Given the description of an element on the screen output the (x, y) to click on. 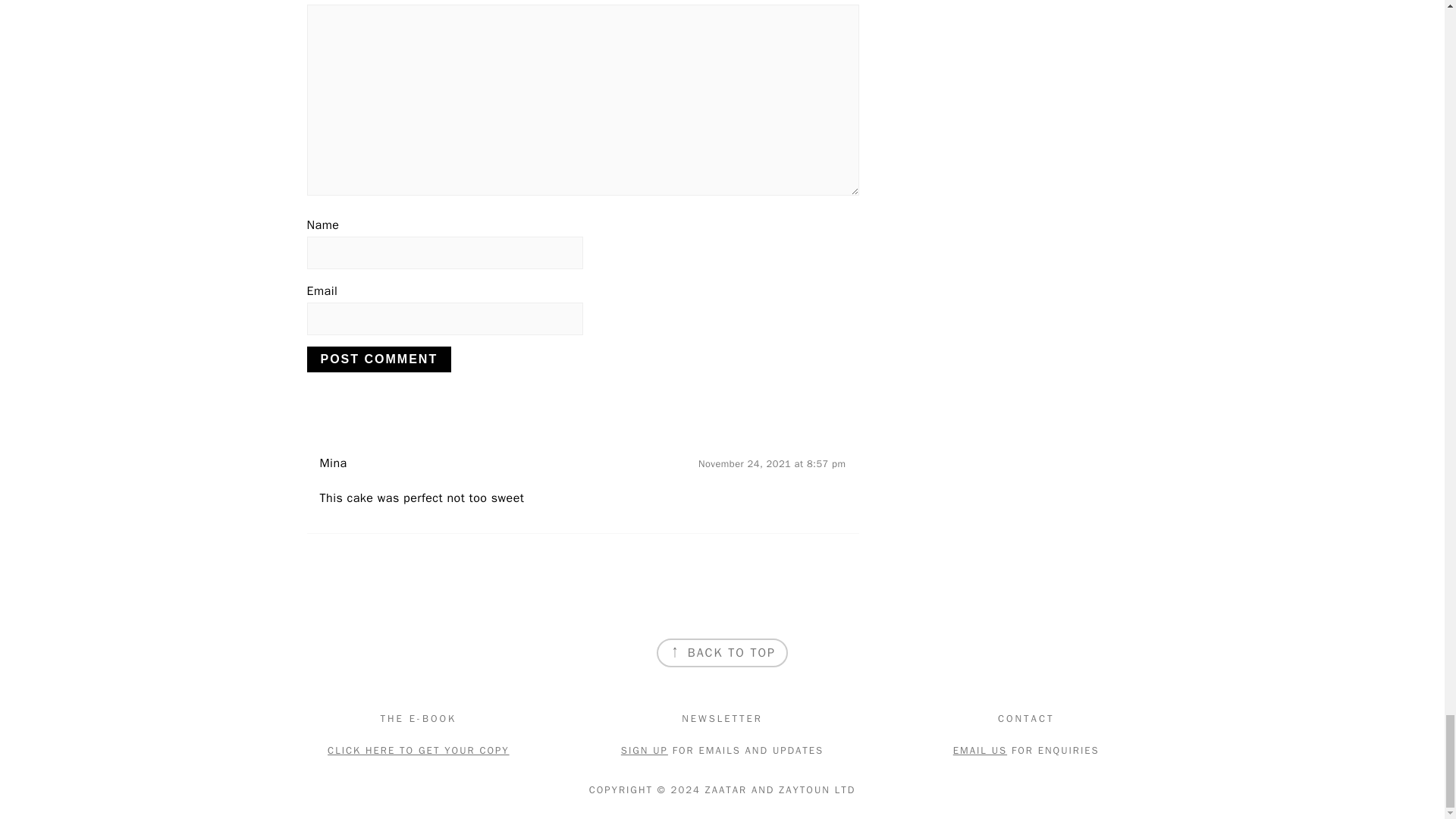
Post Comment (378, 359)
